Given the description of an element on the screen output the (x, y) to click on. 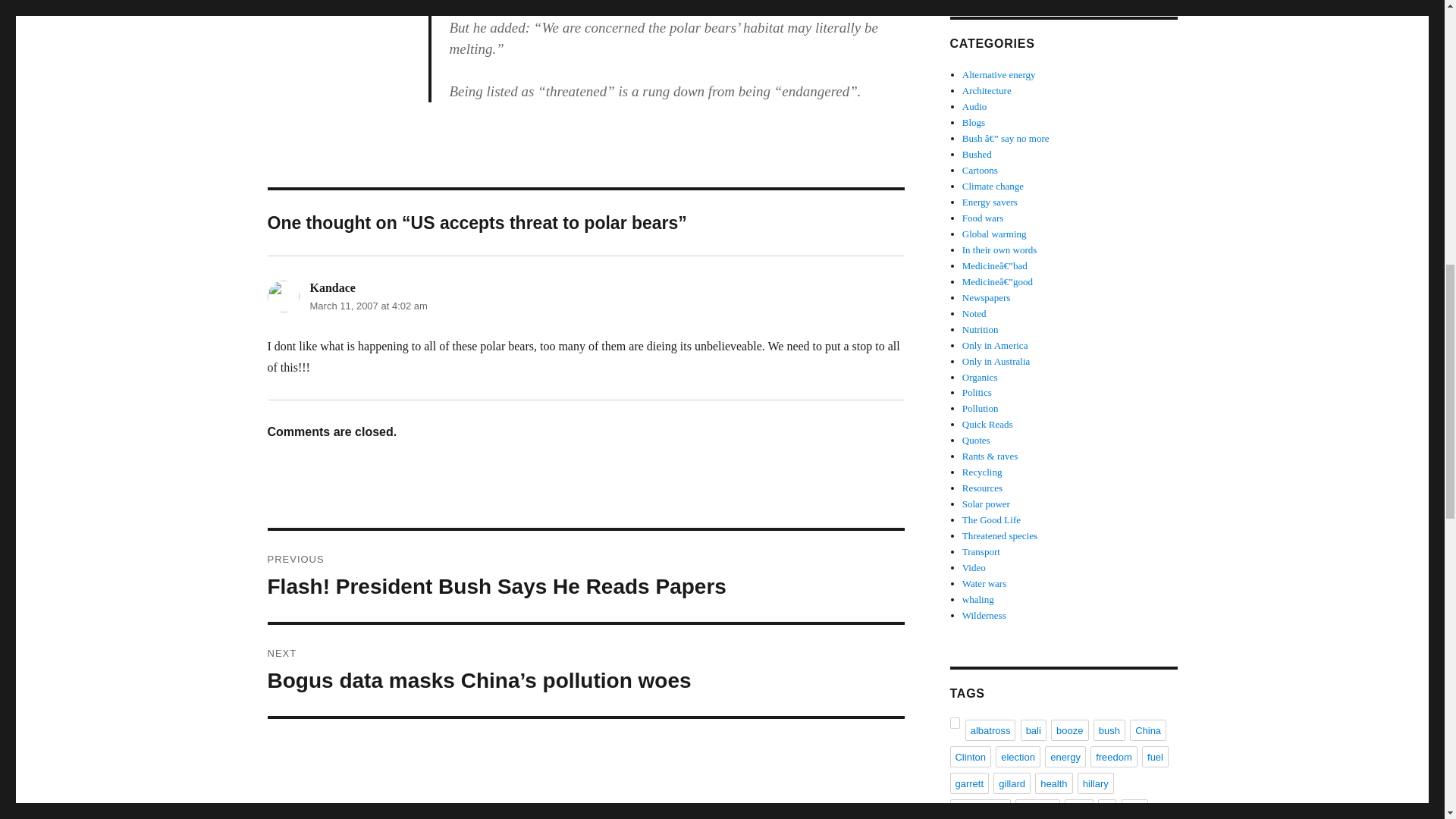
Only in Australia (996, 360)
March 11, 2007 at 4:02 am (367, 306)
Blogs (973, 122)
Architecture (986, 90)
Newspapers (986, 297)
Energy savers (989, 202)
Climate change (992, 185)
Only in America (994, 345)
Food wars (983, 217)
Politics (976, 392)
Audio (974, 106)
Alternative energy (998, 74)
Bushed (976, 153)
Noted (974, 313)
